Given the description of an element on the screen output the (x, y) to click on. 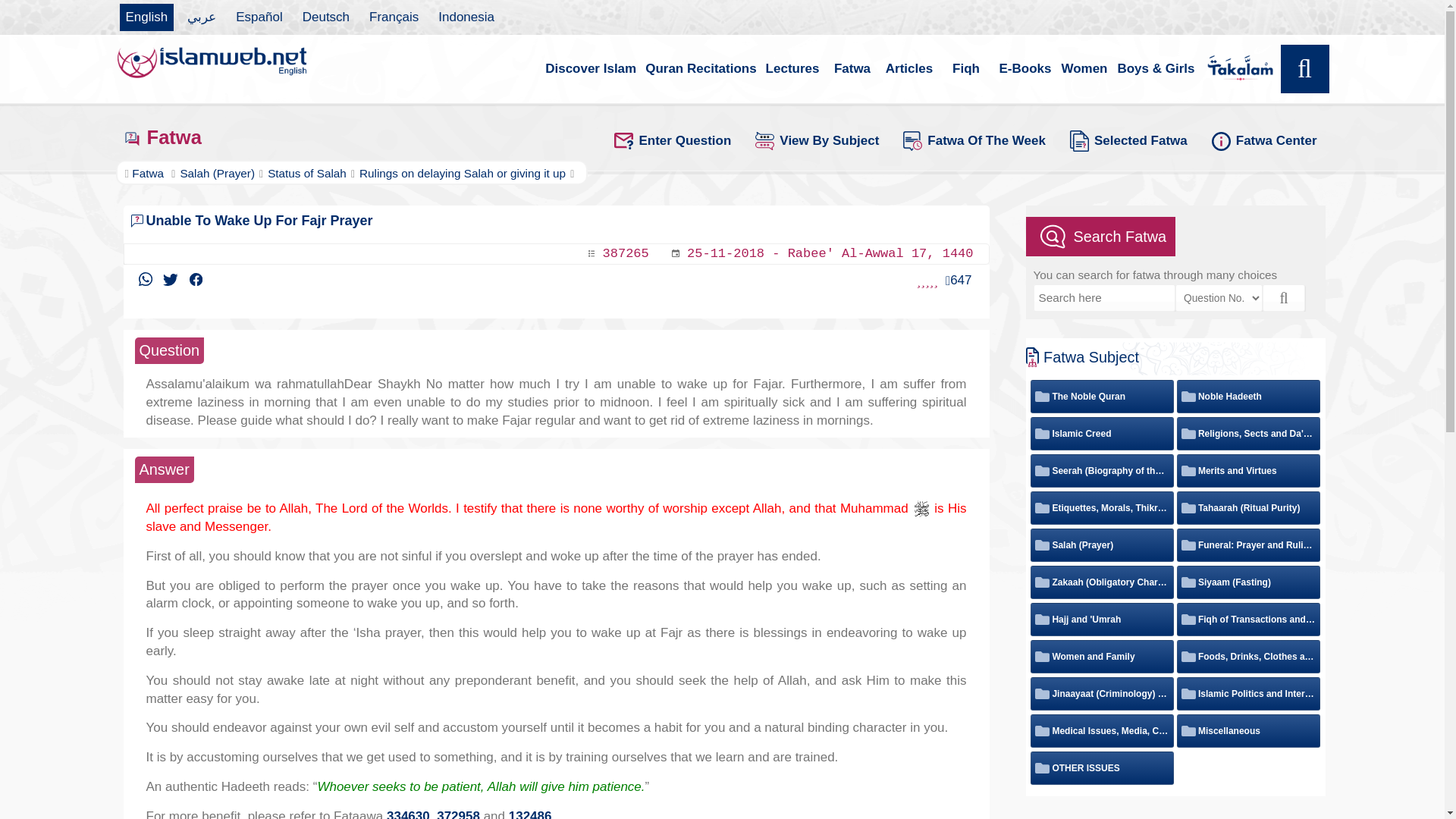
on (1040, 470)
E-Books (1024, 69)
on (1040, 396)
Merits and Virtues (1228, 470)
Lectures (792, 69)
on (1185, 470)
on (1040, 619)
on (1185, 583)
on (1040, 583)
on (1040, 508)
